Given the description of an element on the screen output the (x, y) to click on. 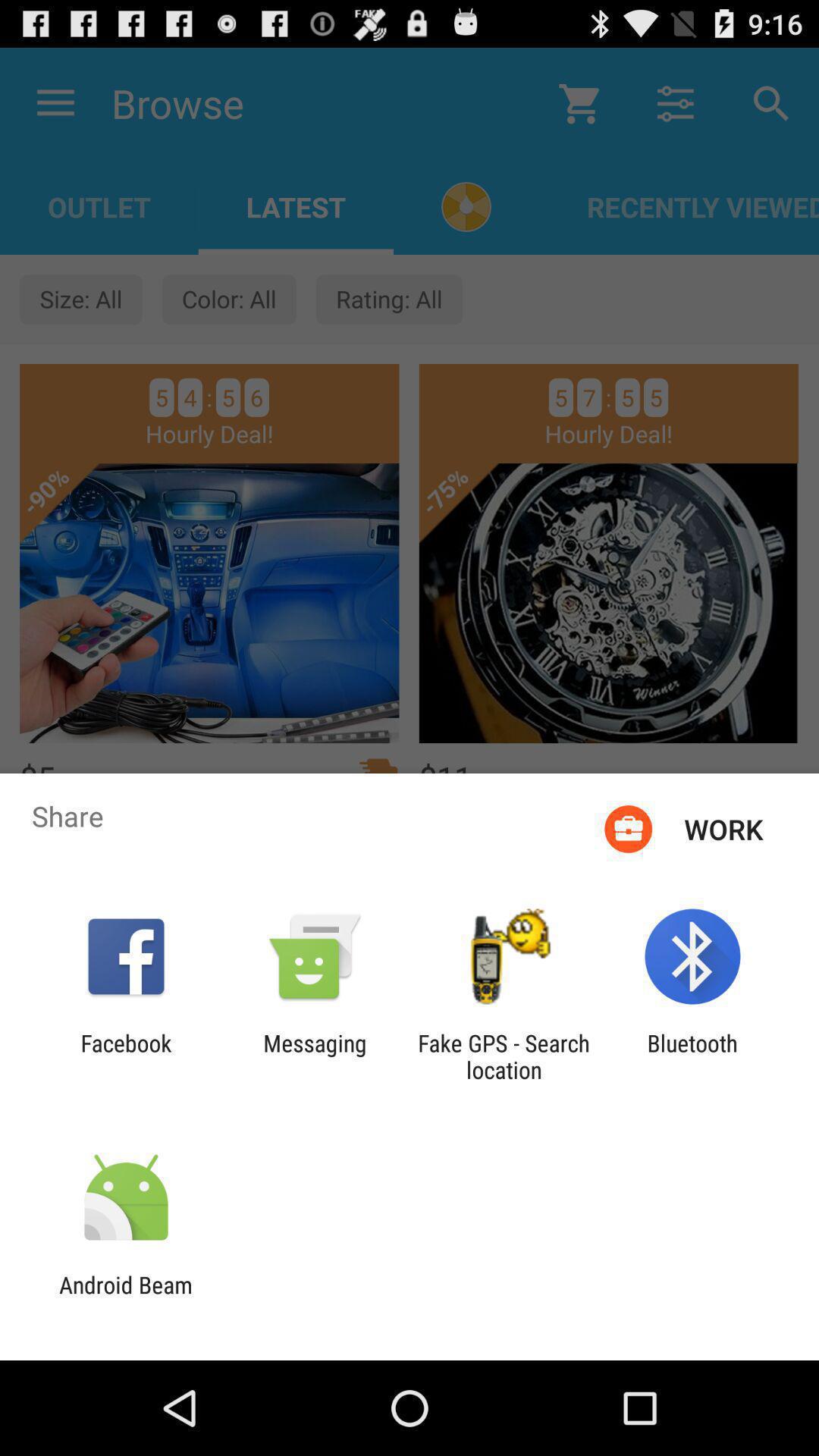
click icon to the right of the fake gps search icon (692, 1056)
